Given the description of an element on the screen output the (x, y) to click on. 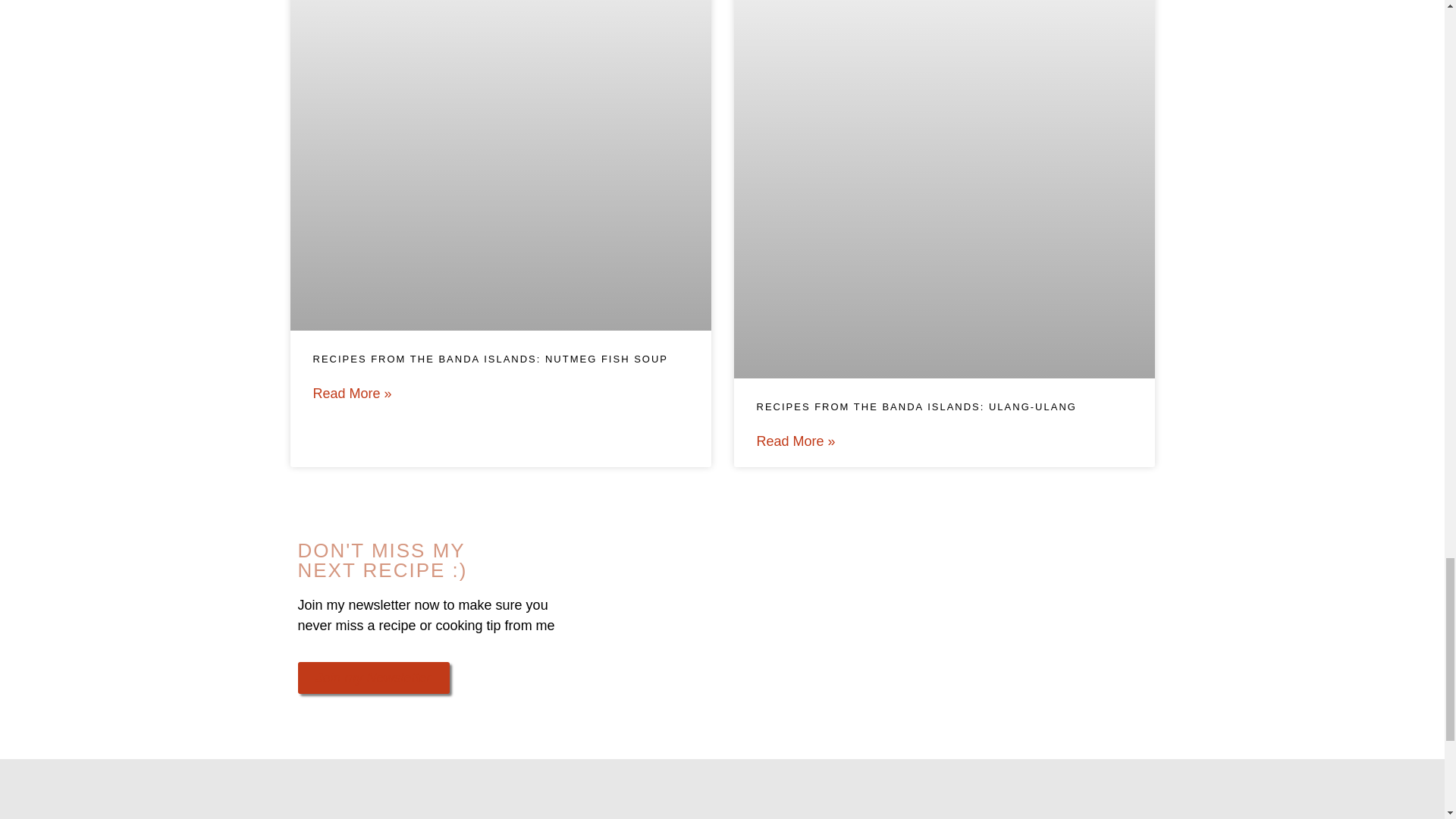
Join my Newsletter (372, 677)
RECIPES FROM THE BANDA ISLANDS: ULANG-ULANG (917, 406)
RECIPES FROM THE BANDA ISLANDS: NUTMEG FISH SOUP (490, 358)
